Given the description of an element on the screen output the (x, y) to click on. 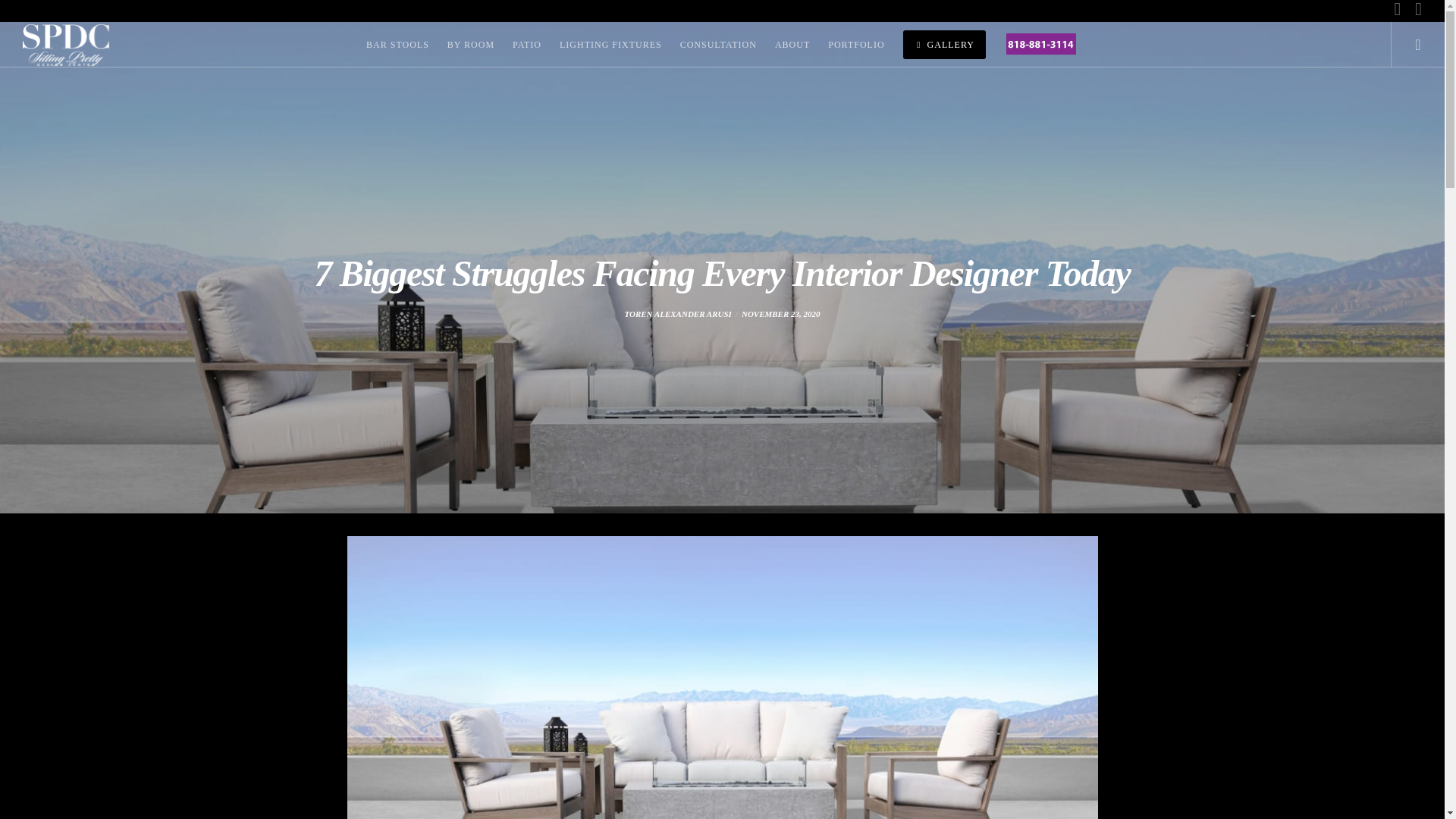
PATIO (526, 44)
ABOUT (791, 44)
BY ROOM (470, 44)
LIGHTING FIXTURES (610, 44)
CONSULTATION (718, 44)
BAR STOOLS (397, 44)
